Given the description of an element on the screen output the (x, y) to click on. 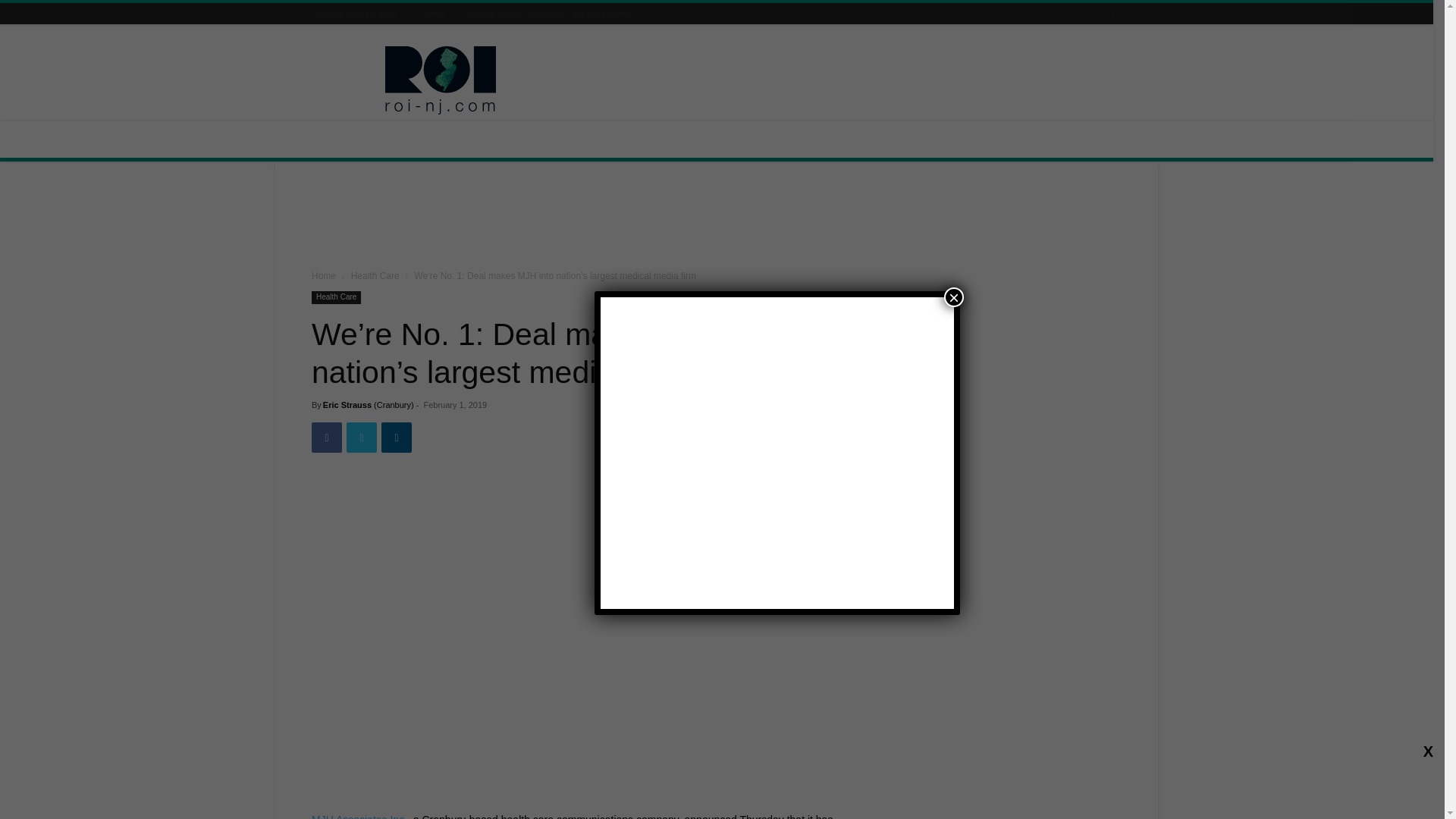
3rd party ad content (716, 218)
Linkedin (396, 437)
Facebook (326, 437)
3rd party ad content (845, 79)
Twitter (361, 437)
View all posts in Health Care (374, 276)
